Given the description of an element on the screen output the (x, y) to click on. 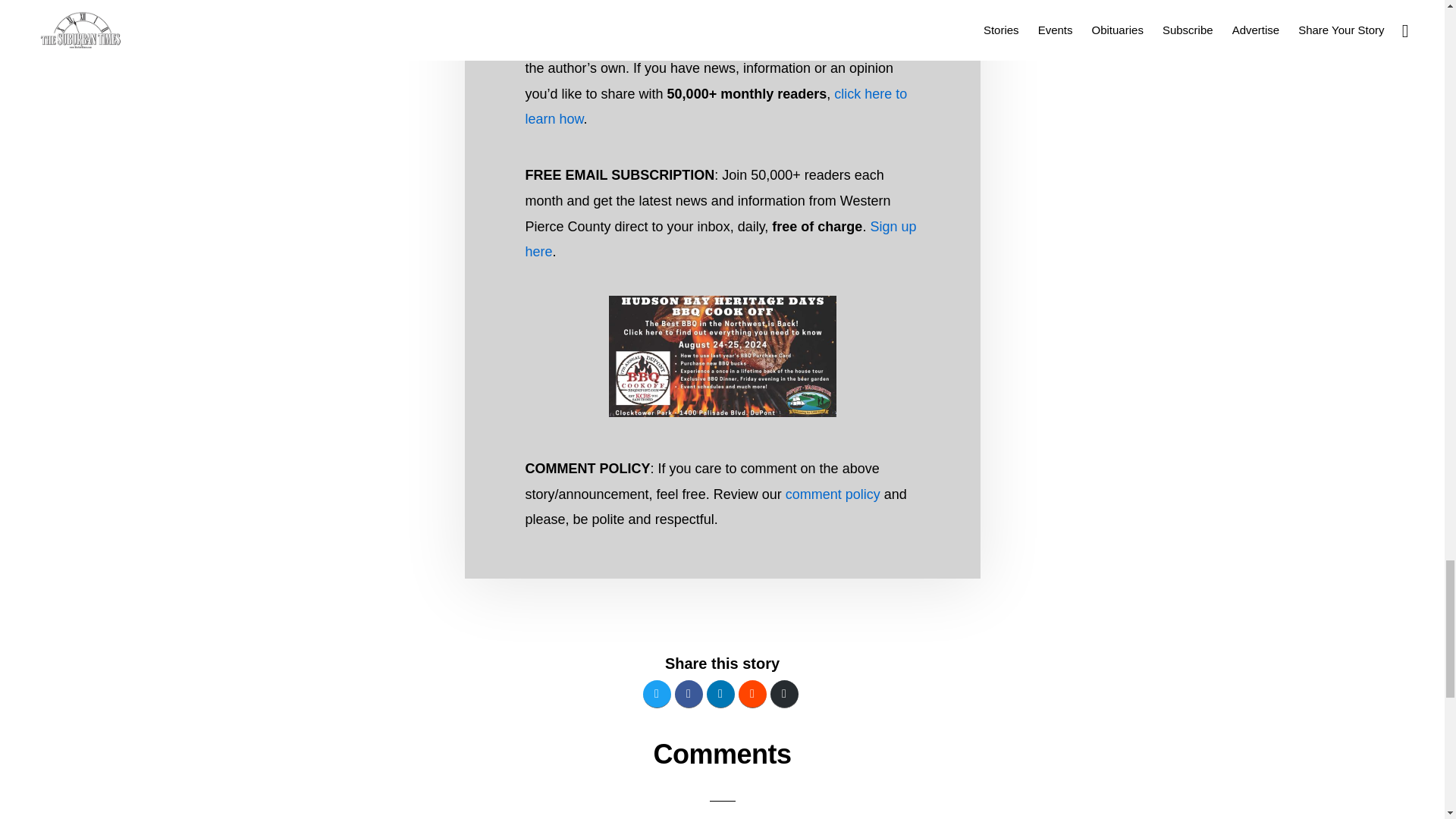
Share on Facebook (689, 694)
Share on Reddit (752, 694)
Share via Email (783, 694)
Share on Reddit (752, 694)
Sign up here (719, 239)
comment policy (833, 494)
Share on Twitter (657, 694)
click here to learn how (715, 106)
Share on Twitter (657, 694)
Share on Facebook (689, 694)
Share on LinkedIn (720, 694)
Share via Email (783, 694)
Share on LinkedIn (720, 694)
